Given the description of an element on the screen output the (x, y) to click on. 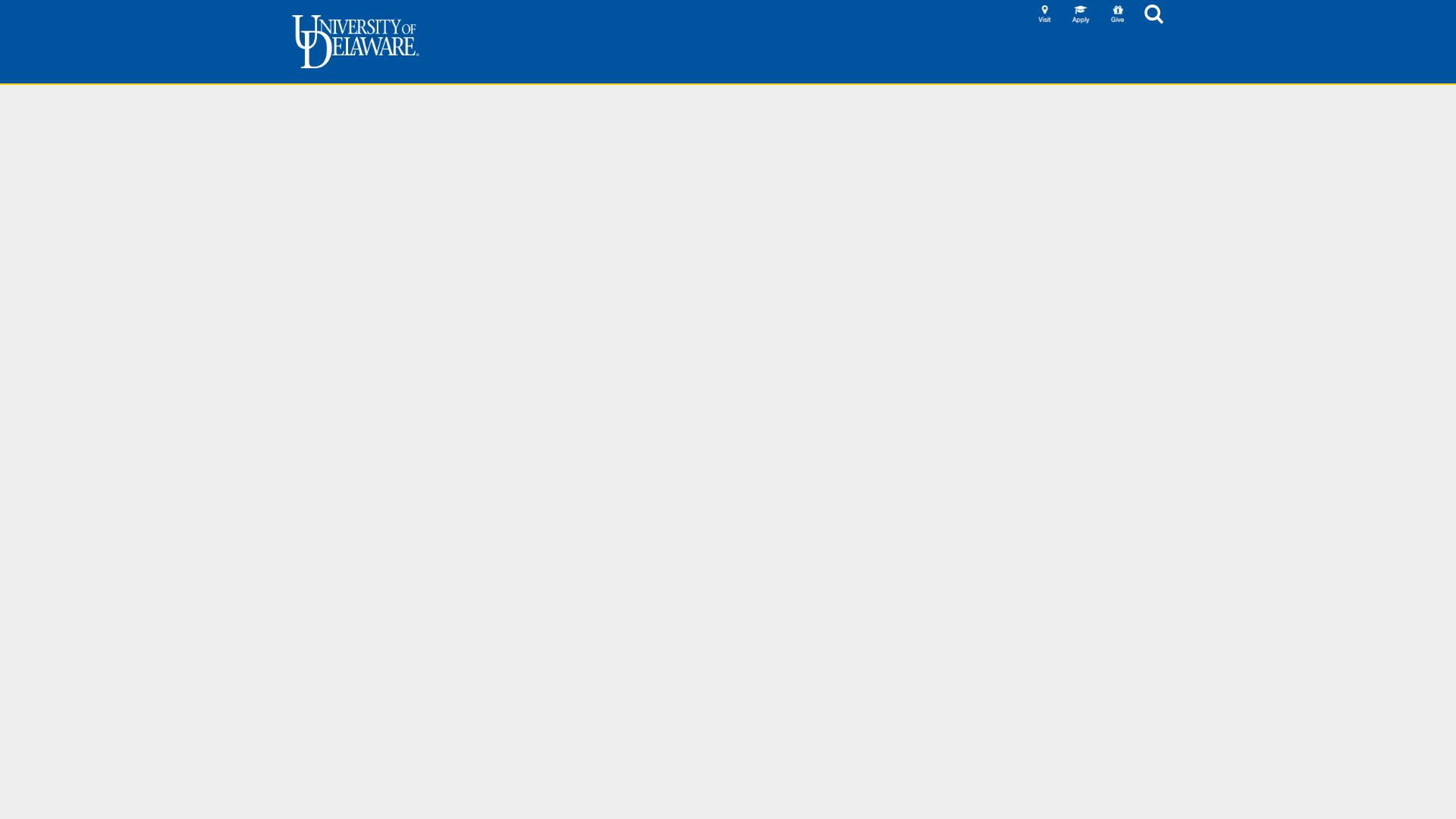
Give (1117, 13)
University of Delaware (355, 41)
Visit (1044, 13)
Search (1153, 13)
Apply (1080, 13)
